Given the description of an element on the screen output the (x, y) to click on. 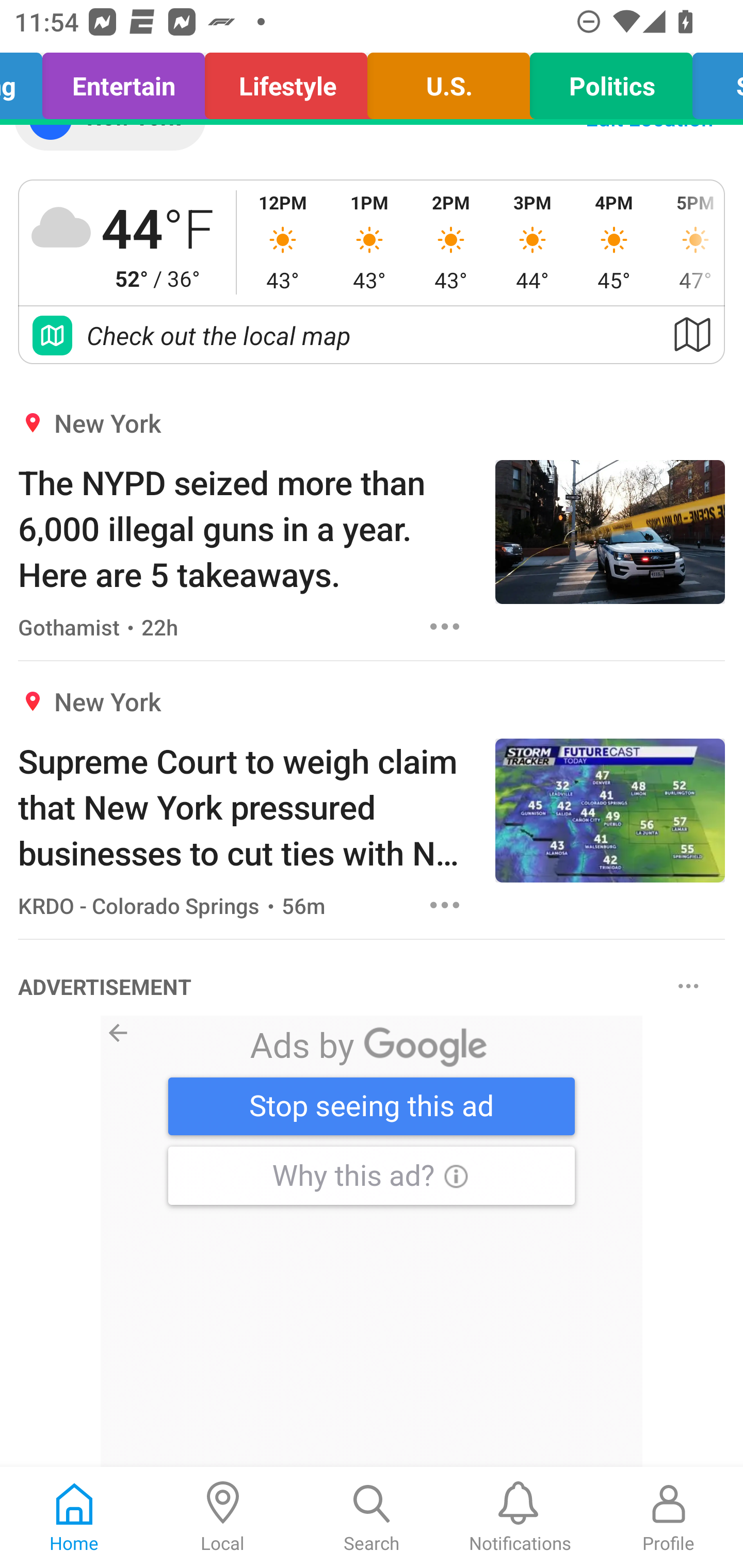
Entertain (123, 81)
Lifestyle (285, 81)
U.S. (448, 81)
Politics (611, 81)
12PM 43° (282, 241)
1PM 43° (369, 241)
2PM 43° (450, 241)
3PM 44° (532, 241)
4PM 45° (613, 241)
5PM 47° (689, 241)
Check out the local map (371, 334)
Options (444, 626)
Options (444, 904)
Options (688, 985)
28 (371, 1241)
Local (222, 1517)
Search (371, 1517)
Notifications (519, 1517)
Profile (668, 1517)
